Given the description of an element on the screen output the (x, y) to click on. 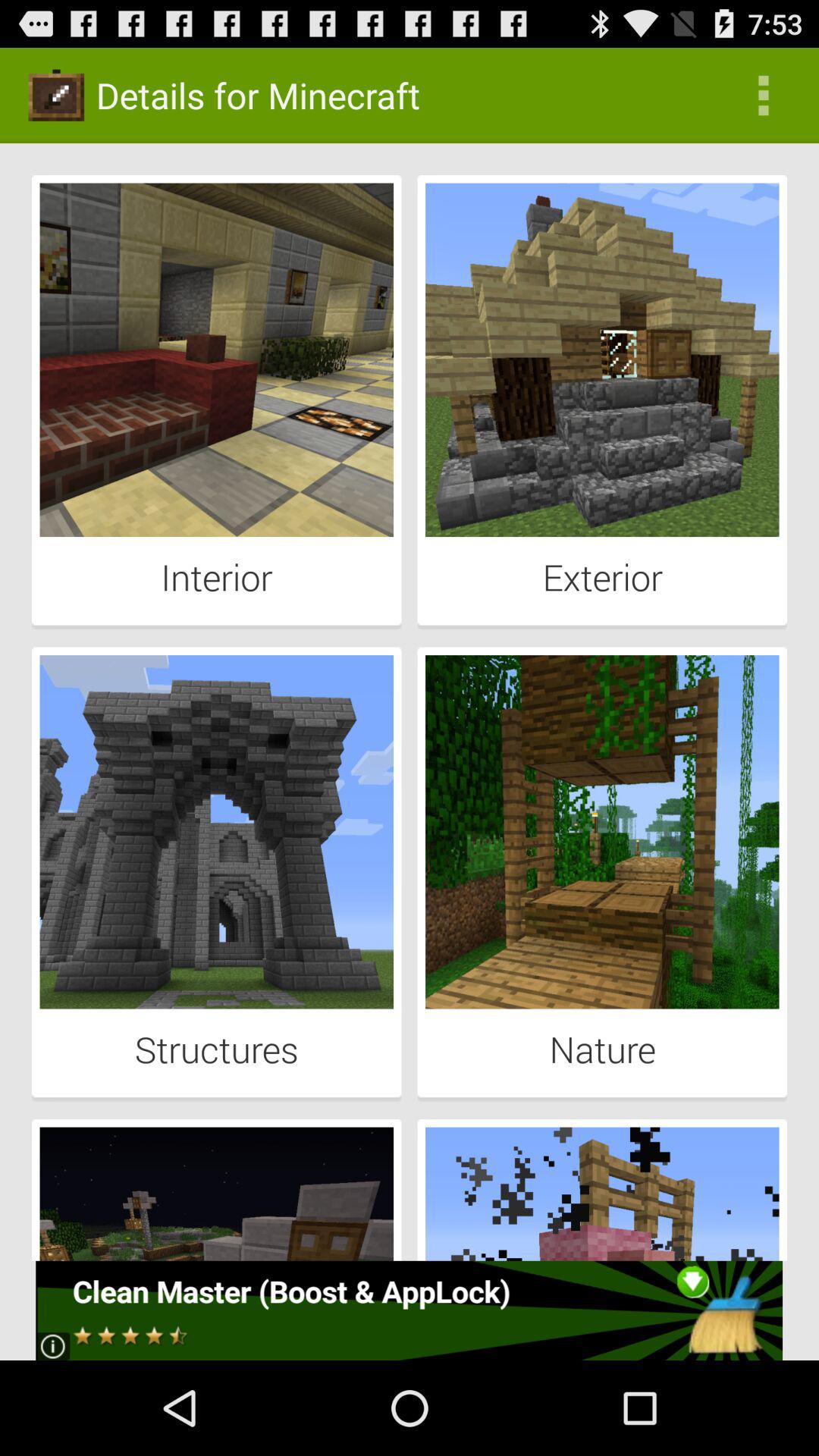
advertisement (408, 1310)
